Given the description of an element on the screen output the (x, y) to click on. 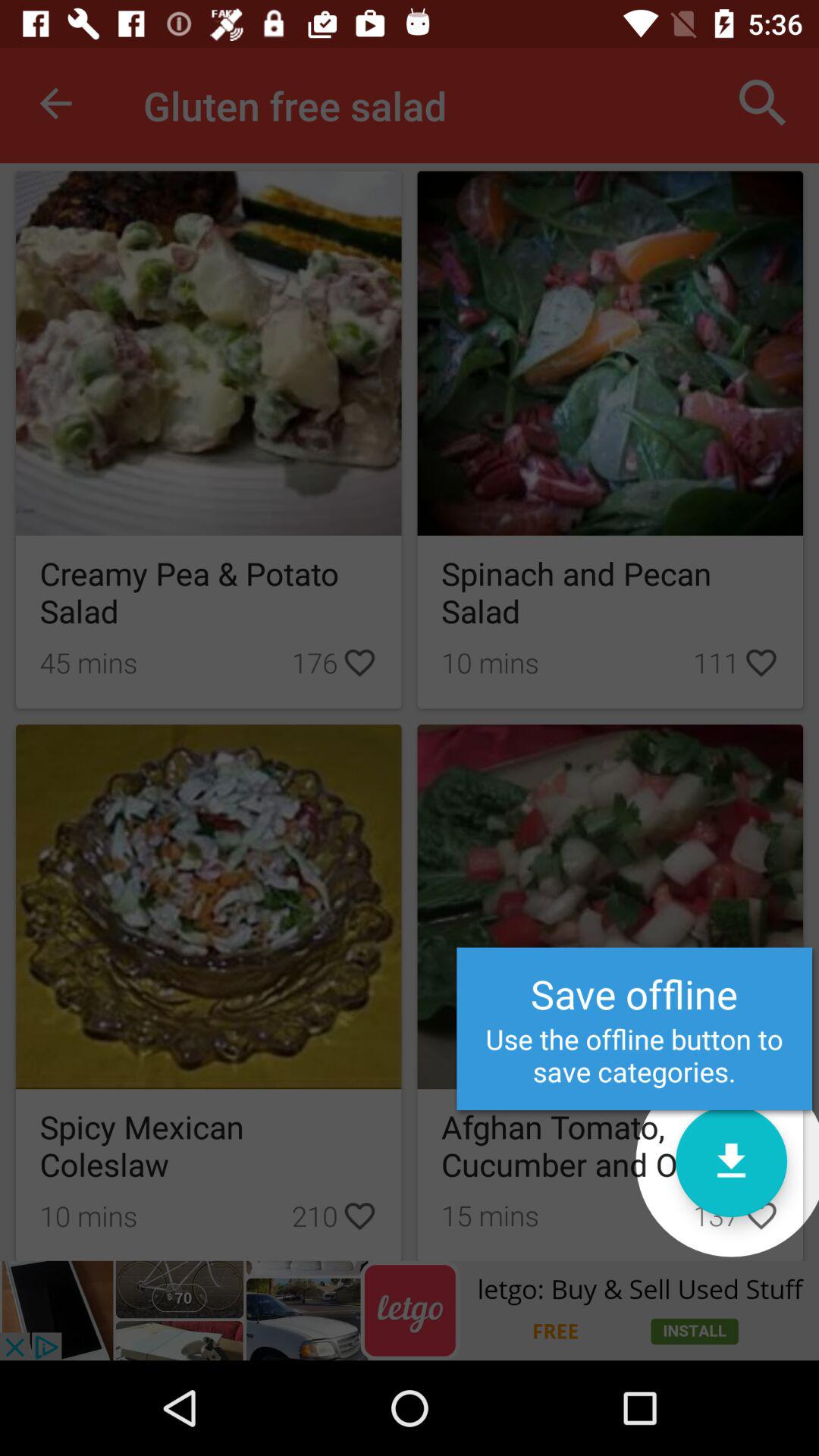
click on the first box (208, 440)
select the red color box (55, 103)
click on the heart symbol (760, 1215)
click on the heart symbol (760, 1215)
select the heart icon adjacent to 111 (760, 662)
select the image above spinach and pecan salad (610, 353)
